Given the description of an element on the screen output the (x, y) to click on. 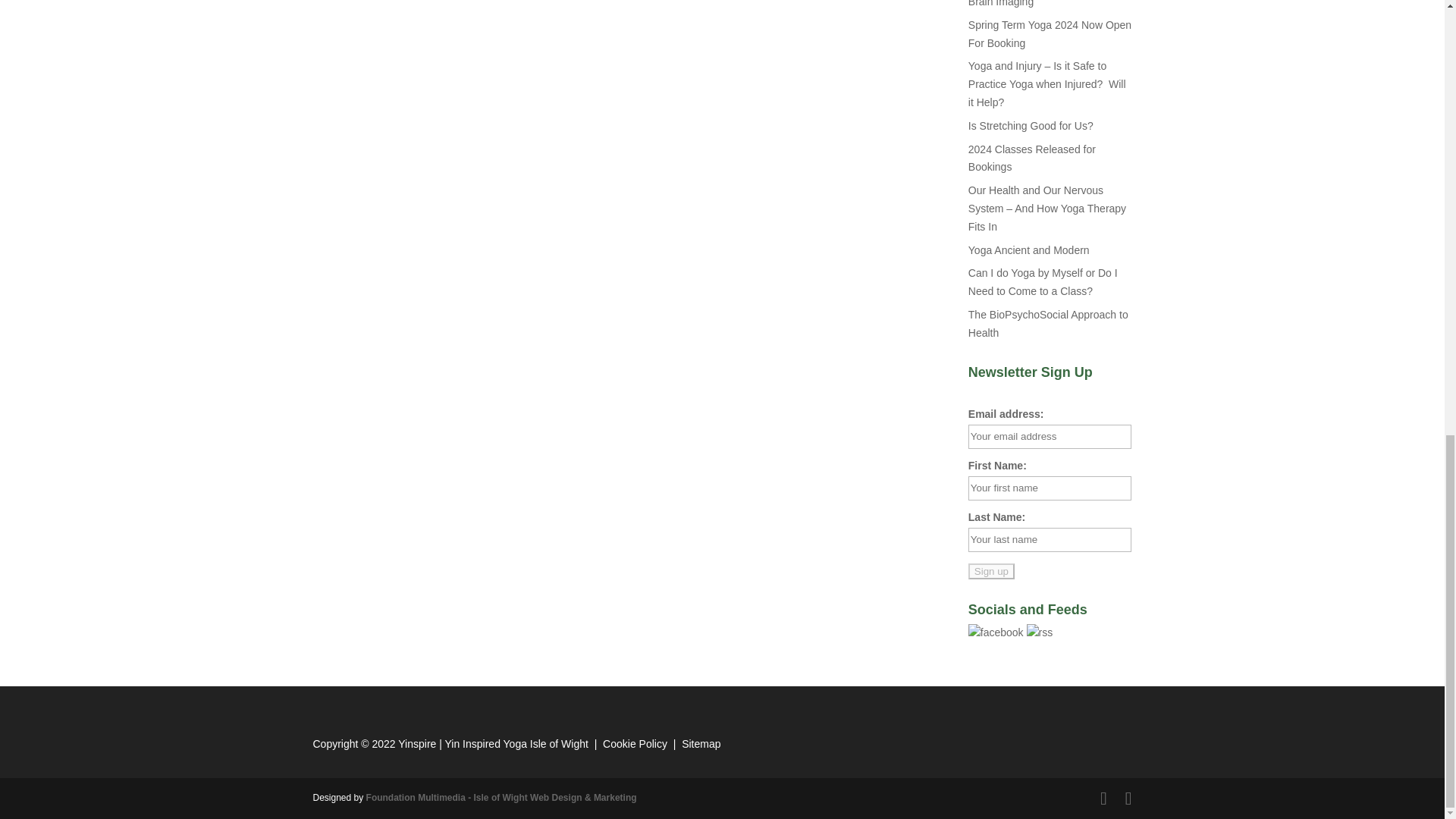
2024 Classes Released for Bookings (1032, 158)
Is Stretching Good for Us? (1030, 125)
Web Design on the Isle of Wight (501, 797)
Yin Inspired Yoga Isle of Wight (516, 743)
Cookie Policy (634, 743)
Sitemap (700, 743)
facebook (995, 633)
rss (1039, 633)
Yoga Ancient and Modern (1028, 250)
Yin Inspired Yoga Isle of Wight (516, 743)
Sitemap (700, 743)
Spring Term Yoga 2024 Now Open For Booking (1049, 33)
Cookie Policy (634, 743)
Sign up (991, 571)
